Given the description of an element on the screen output the (x, y) to click on. 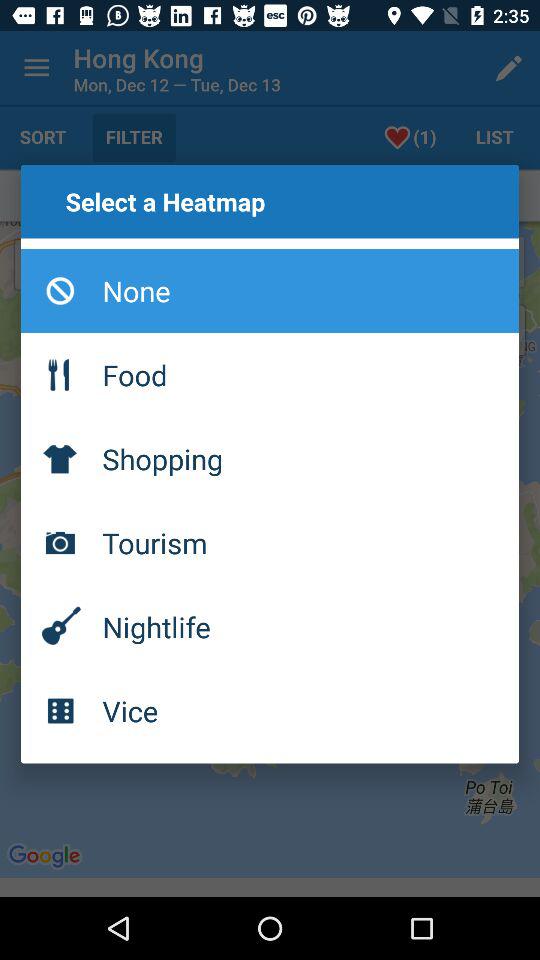
turn on item at the top (270, 291)
